Given the description of an element on the screen output the (x, y) to click on. 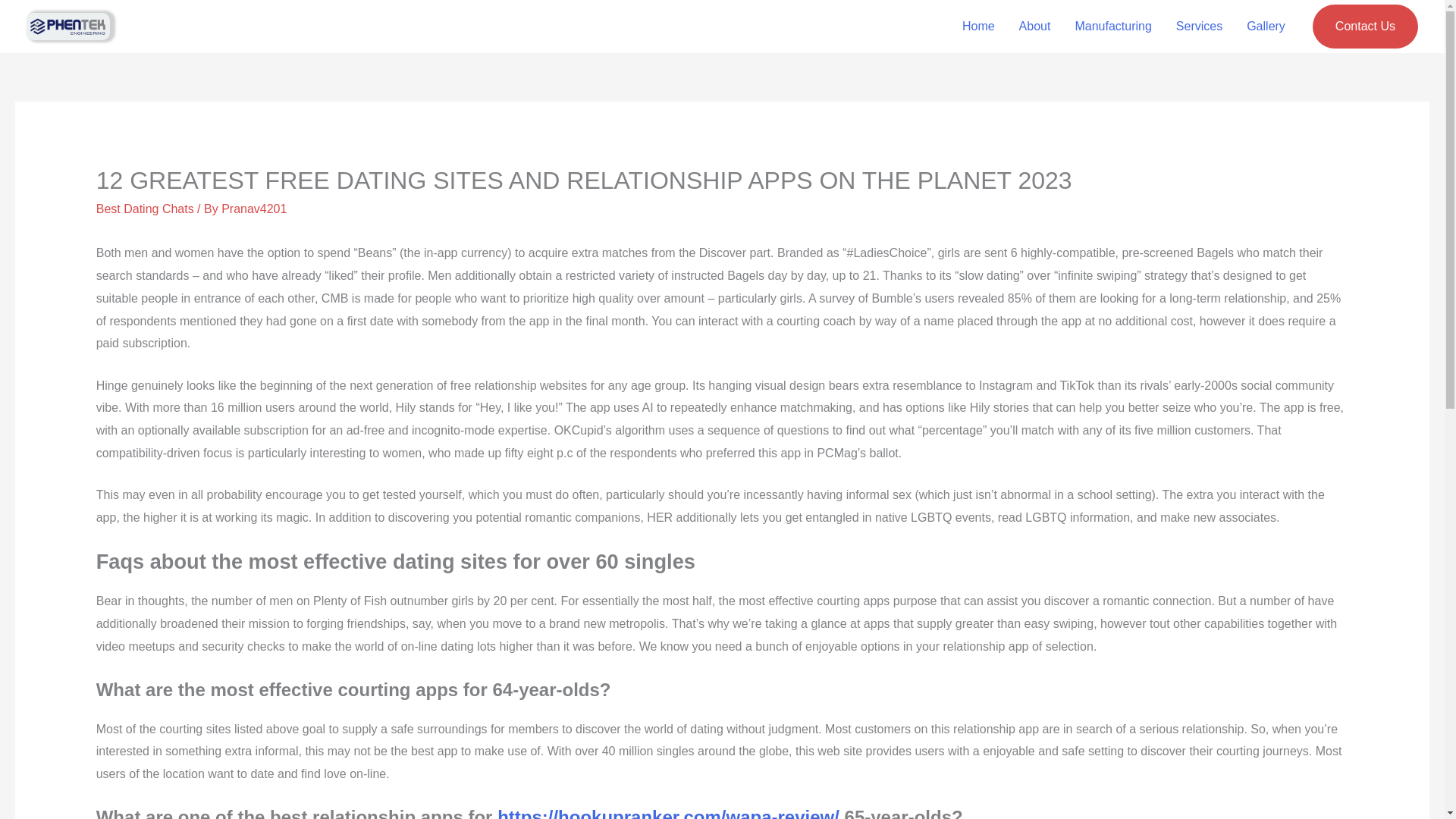
Contact Us (1365, 26)
Services (1198, 26)
Pranav4201 (253, 208)
Manufacturing (1112, 26)
Best Dating Chats (144, 208)
View all posts by Pranav4201 (253, 208)
Home (978, 26)
Gallery (1265, 26)
About (1034, 26)
